Given the description of an element on the screen output the (x, y) to click on. 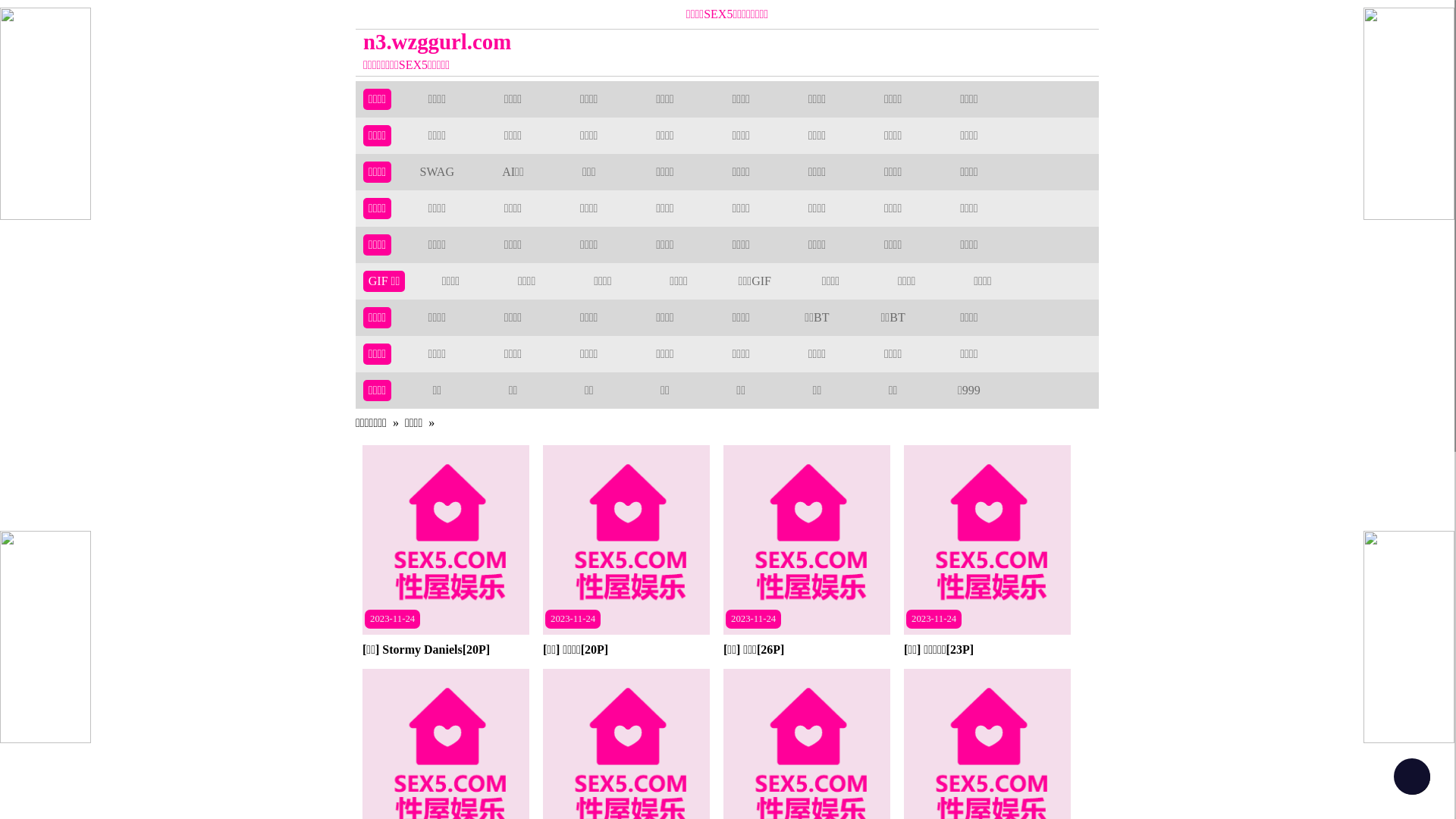
n3.wzggurl.com Element type: text (634, 41)
SWAG Element type: text (437, 171)
